Given the description of an element on the screen output the (x, y) to click on. 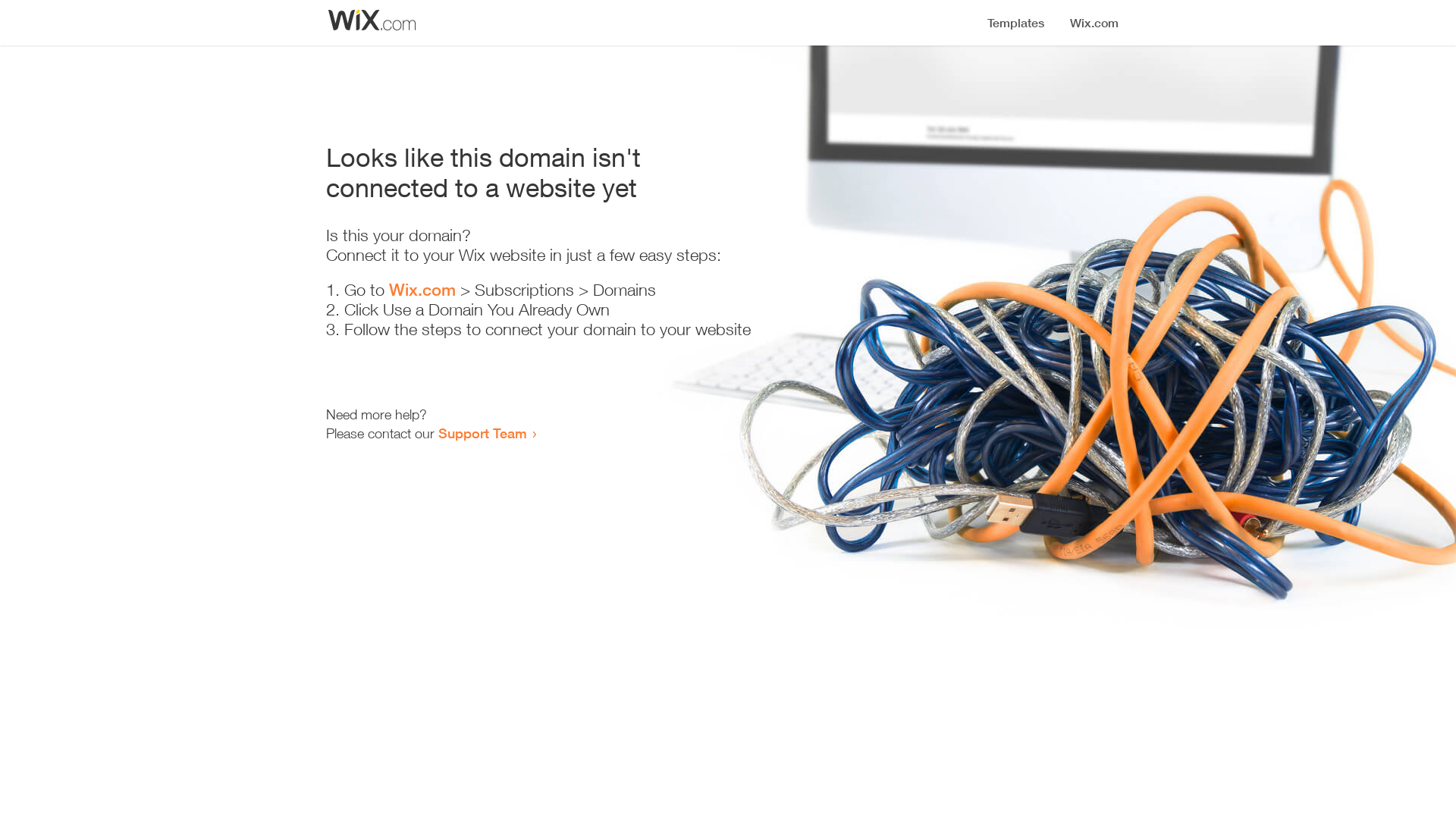
Wix.com Element type: text (422, 289)
Support Team Element type: text (482, 432)
